Given the description of an element on the screen output the (x, y) to click on. 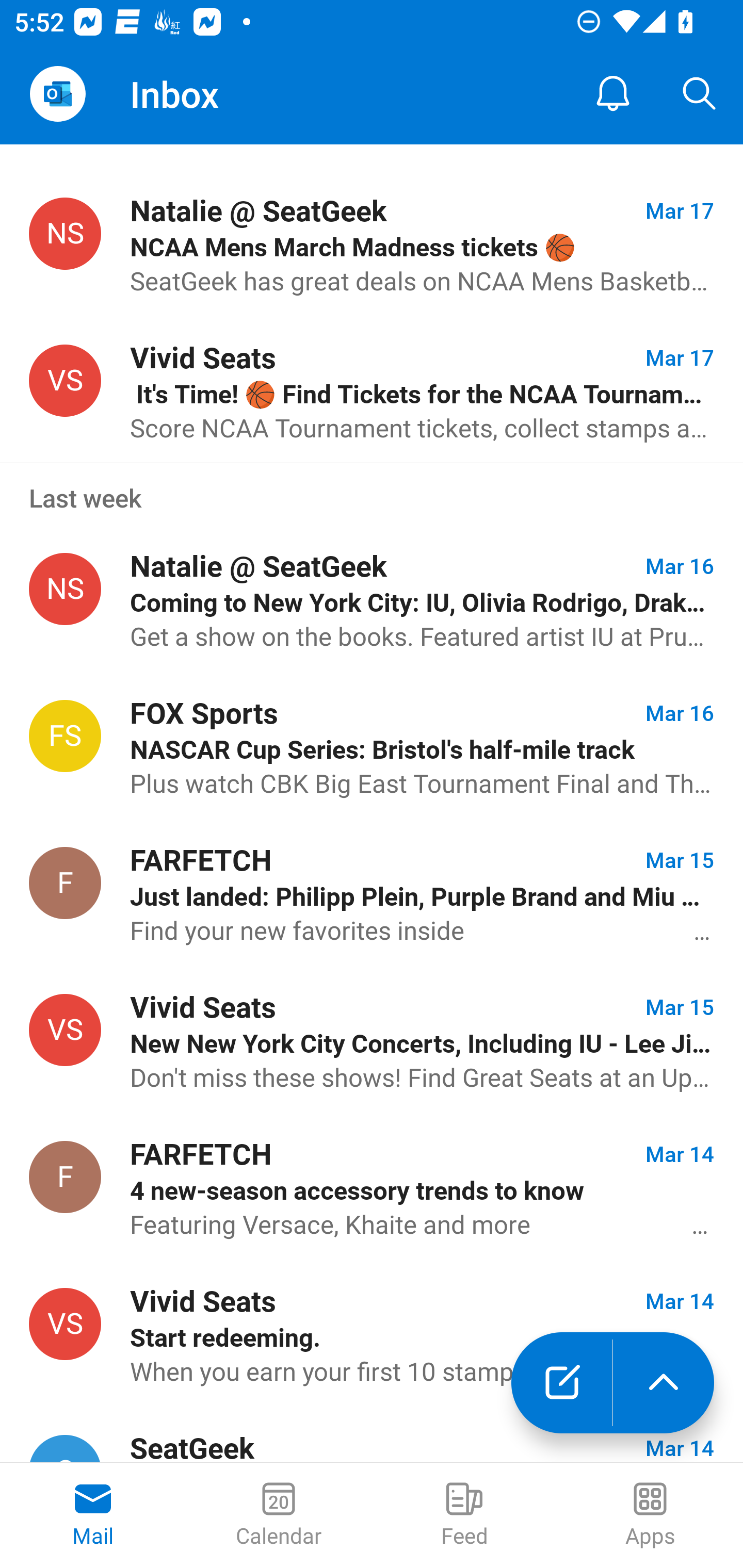
Notification Center (612, 93)
Search, ,  (699, 93)
Open Navigation Drawer (57, 94)
Natalie @ SeatGeek, events@seatgeek.com (64, 233)
Vivid Seats, tickets@live.vividseats.com (64, 380)
Natalie @ SeatGeek, events@seatgeek.com (64, 589)
FOX Sports, email@inbox.foxsports.com (64, 735)
FARFETCH, farfetch@email.farfetch.com (64, 882)
Vivid Seats, tickets@live.vividseats.com (64, 1030)
FARFETCH, farfetch@email.farfetch.com (64, 1177)
Vivid Seats, tickets@live.vividseats.com (64, 1323)
New mail (561, 1382)
launch the extended action menu (663, 1382)
Calendar (278, 1515)
Feed (464, 1515)
Apps (650, 1515)
